Given the description of an element on the screen output the (x, y) to click on. 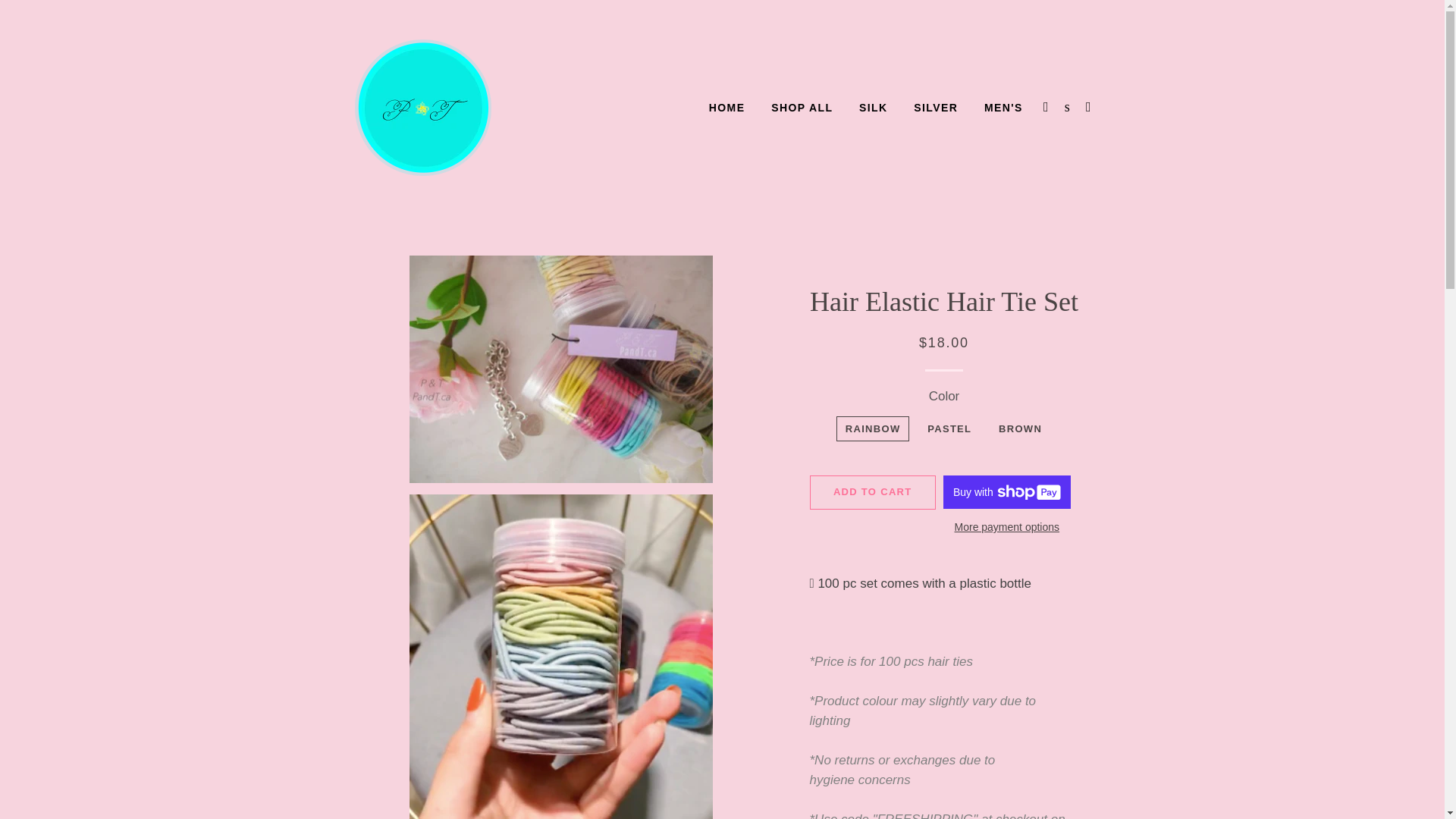
MEN'S (1002, 107)
HOME (727, 107)
SHOP ALL (802, 107)
ADD TO CART (872, 491)
SILK (873, 107)
SILVER (935, 107)
More payment options (1007, 527)
